Given the description of an element on the screen output the (x, y) to click on. 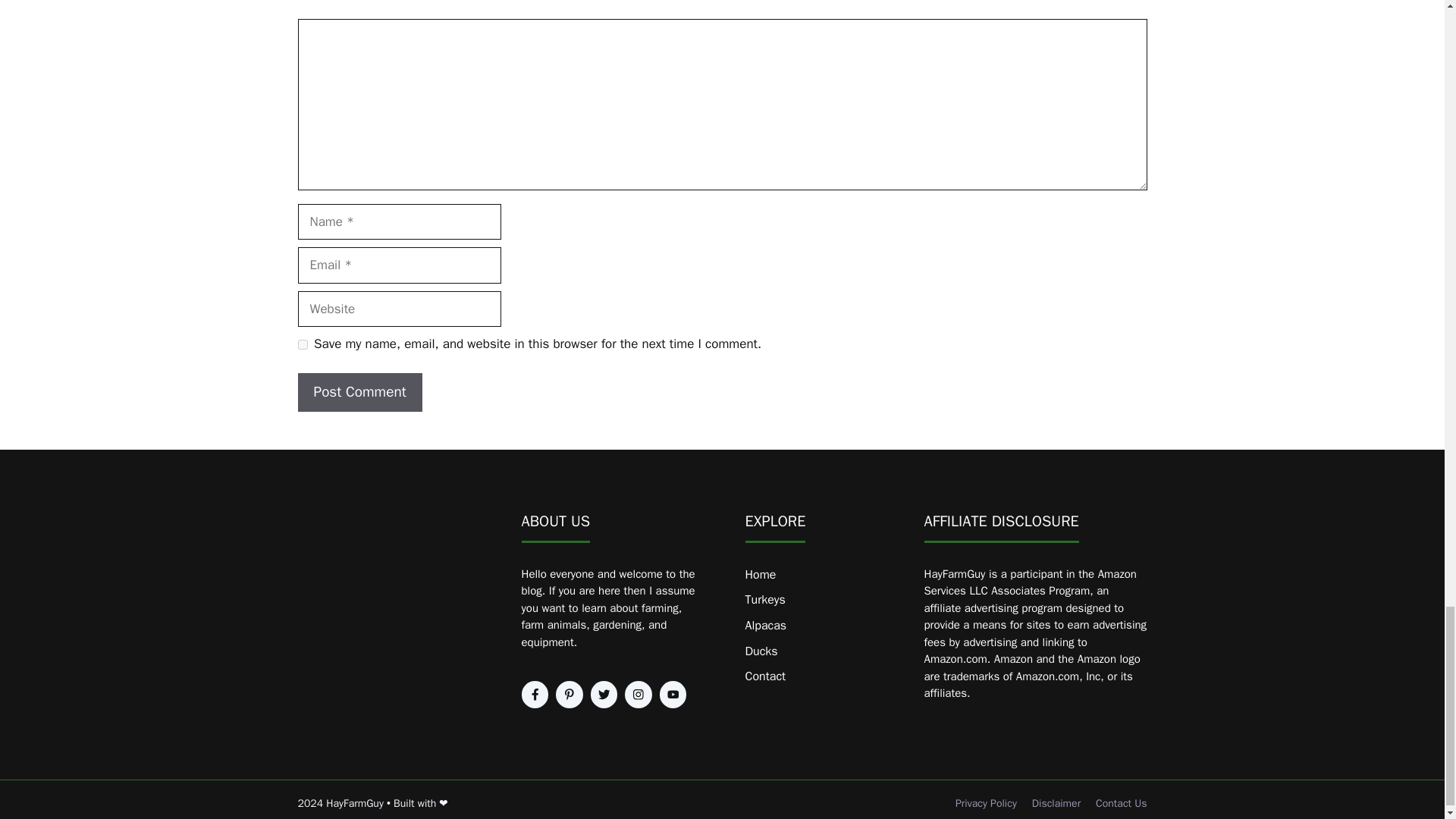
Post Comment (359, 392)
yes (302, 344)
